Given the description of an element on the screen output the (x, y) to click on. 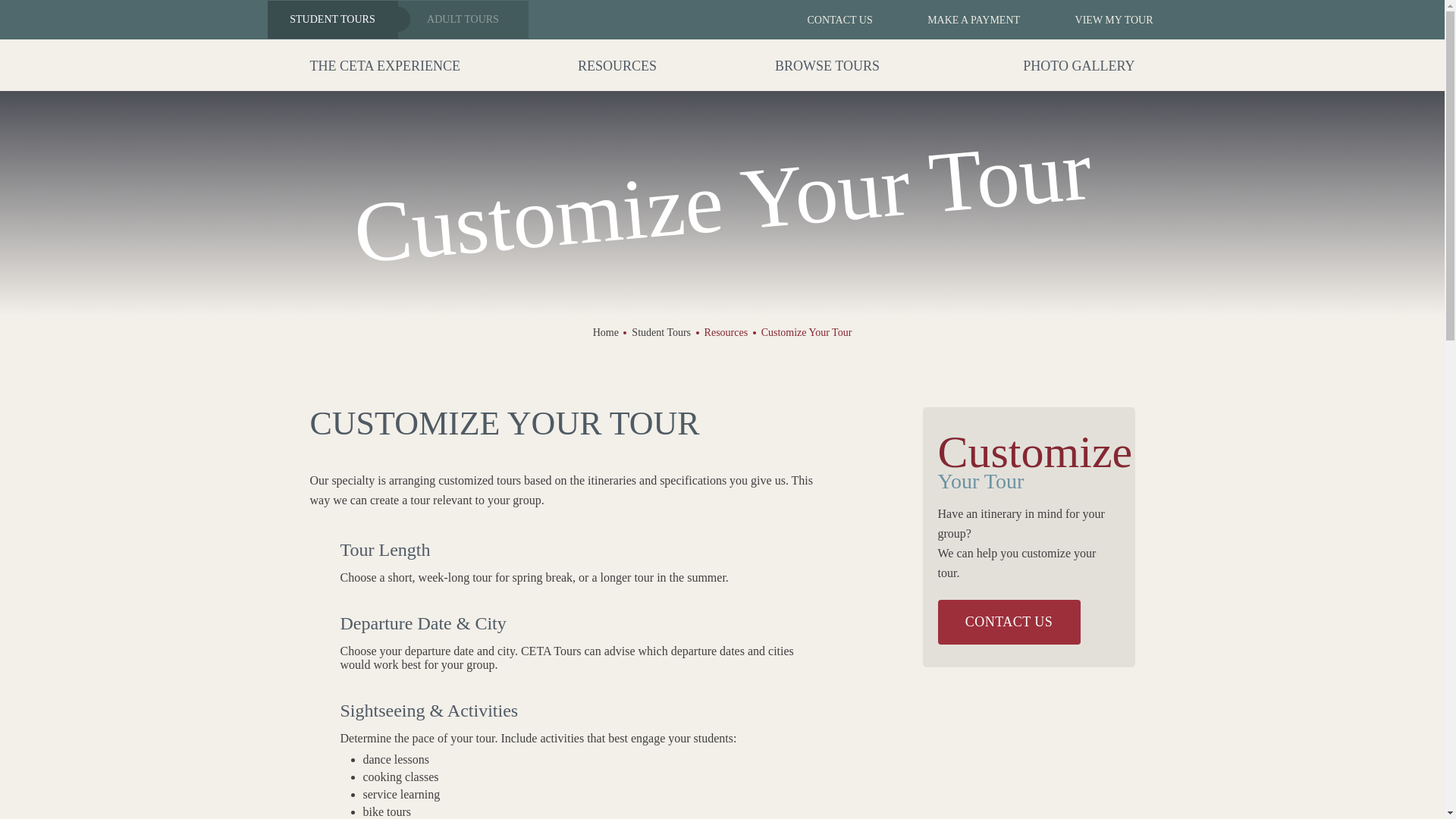
ADULT TOURS (462, 19)
CONTACT US (830, 19)
BROWSE TOURS (826, 64)
VIEW MY TOUR (1103, 20)
Make a Payment (962, 19)
View My Tour (1103, 20)
MAKE A PAYMENT (962, 19)
CONTACT US (1008, 621)
Student Tours (660, 332)
Student Tours (331, 19)
